Given the description of an element on the screen output the (x, y) to click on. 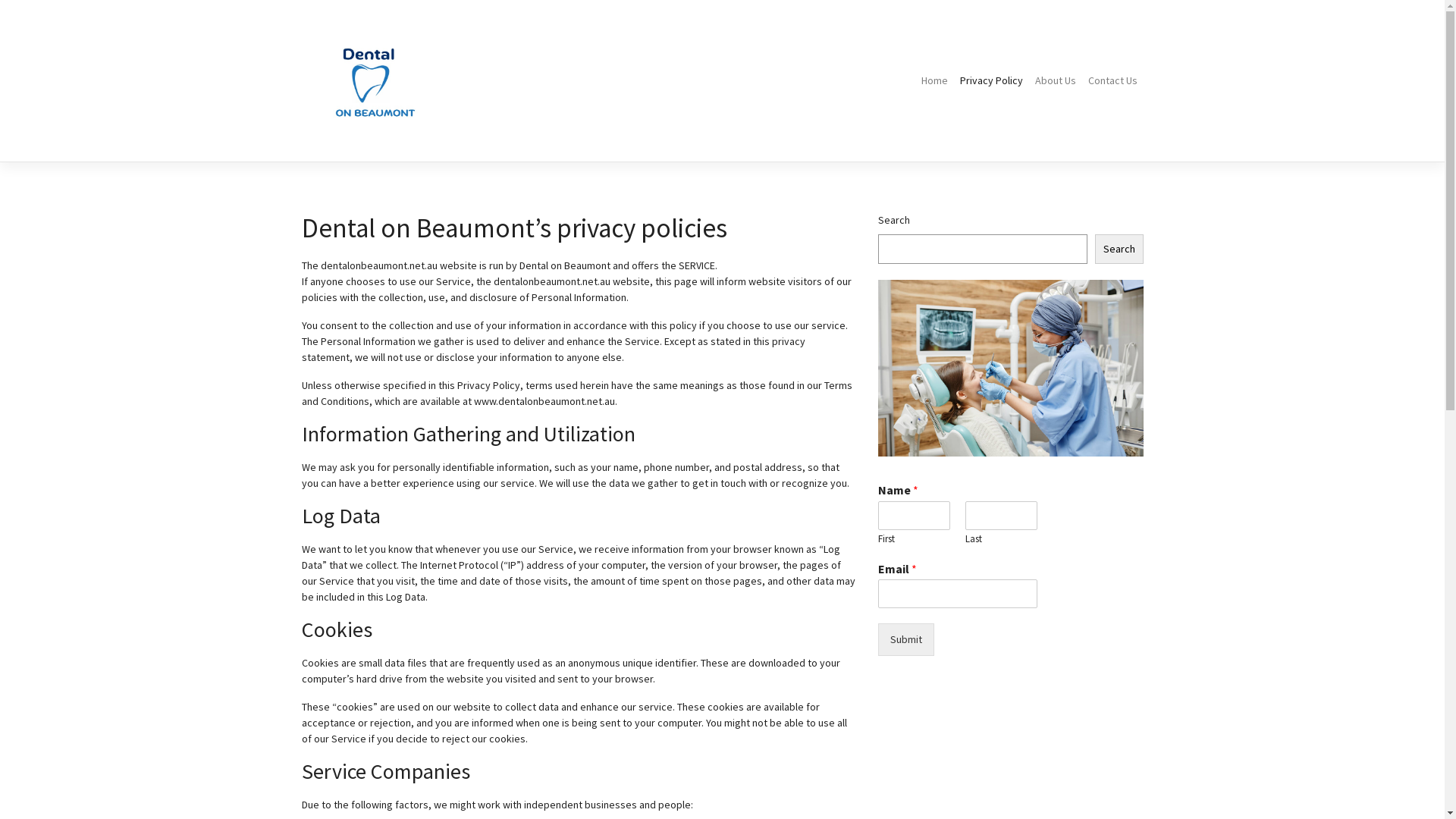
About Us Element type: text (1054, 80)
Submit Element type: text (906, 639)
Privacy Policy Element type: text (991, 80)
Search Element type: text (1119, 248)
Home Element type: text (933, 80)
Contact Us Element type: text (1111, 80)
